Given the description of an element on the screen output the (x, y) to click on. 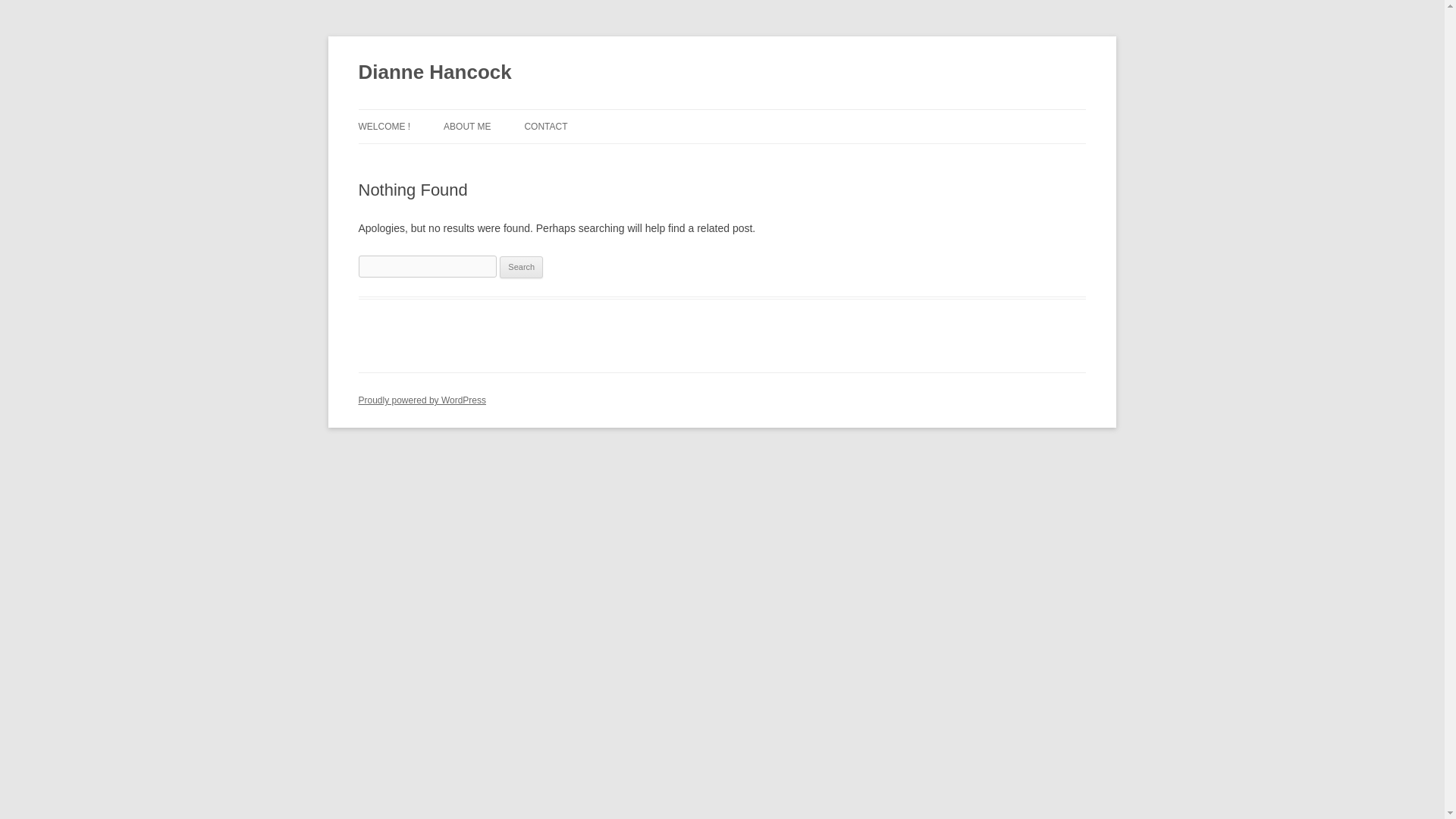
Dianne Hancock (434, 72)
CONTACT (545, 126)
ABOUT ME (467, 126)
Search (521, 267)
Search (521, 267)
WELCOME ! (384, 126)
